Given the description of an element on the screen output the (x, y) to click on. 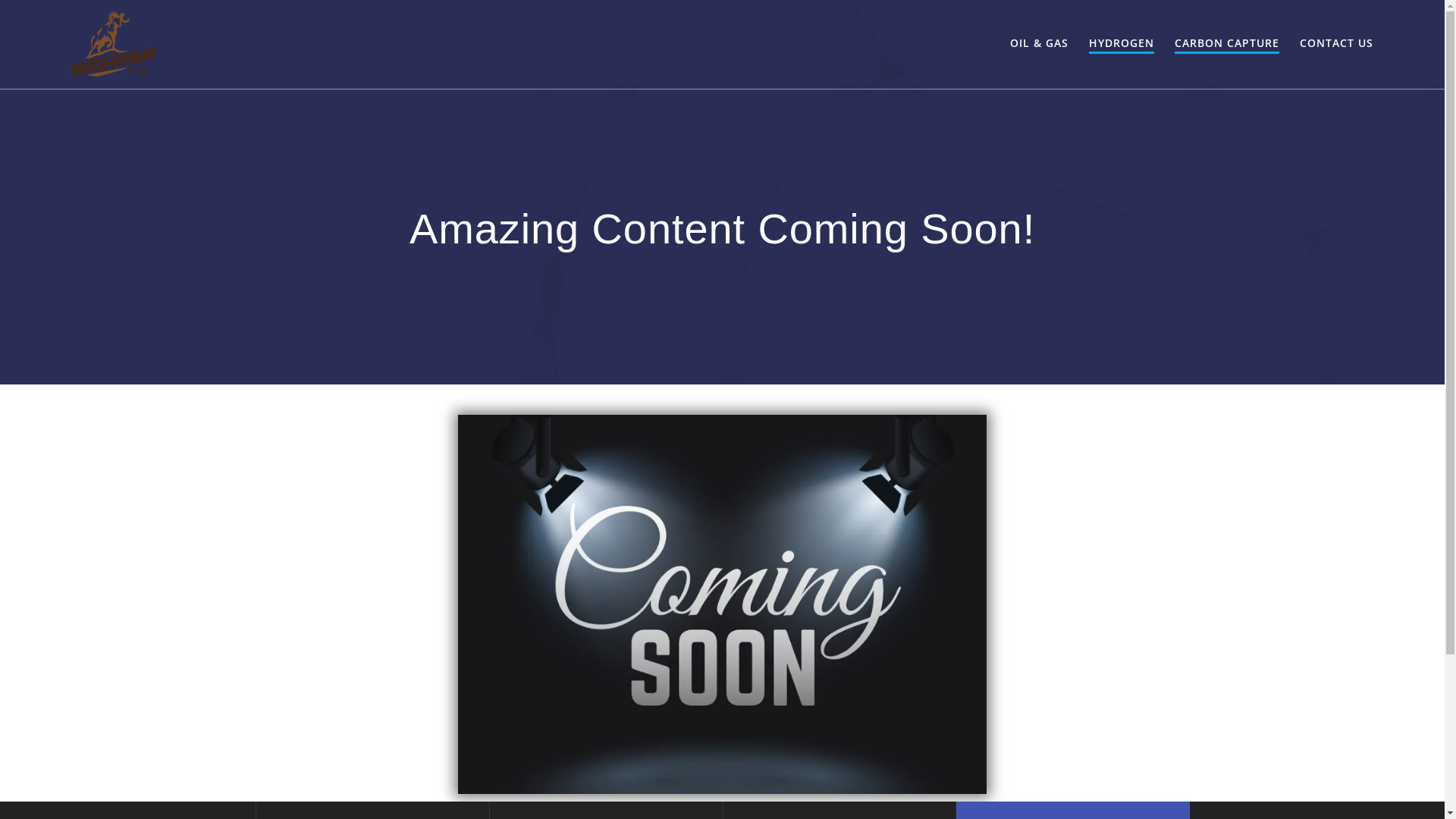
CARBON CAPTURE Element type: text (1226, 43)
CONTACT US Element type: text (1336, 43)
HYDROGEN Element type: text (1121, 43)
OIL & GAS Element type: text (1039, 43)
